Given the description of an element on the screen output the (x, y) to click on. 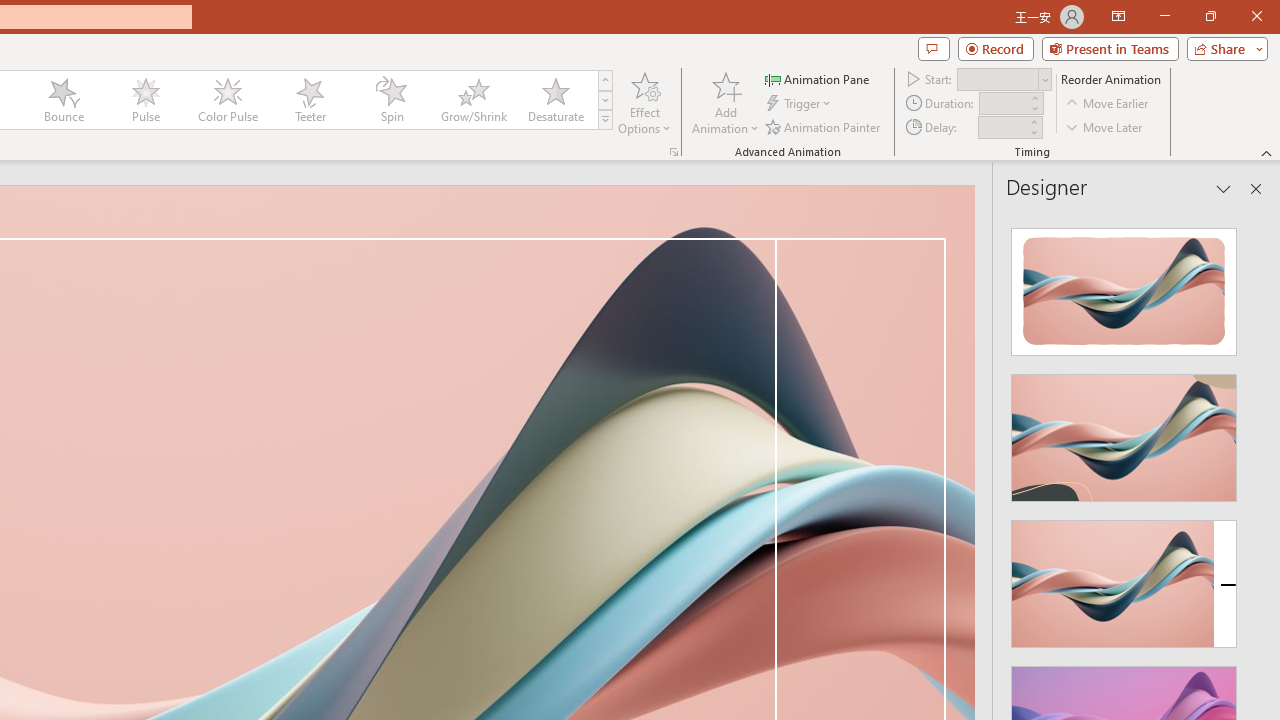
Animation Delay (1002, 127)
Effect Options (644, 102)
Desaturate (555, 100)
Move Later (1105, 126)
Animation Painter (824, 126)
Animation Pane (818, 78)
Color Pulse (227, 100)
Pulse (145, 100)
Trigger (799, 103)
